Given the description of an element on the screen output the (x, y) to click on. 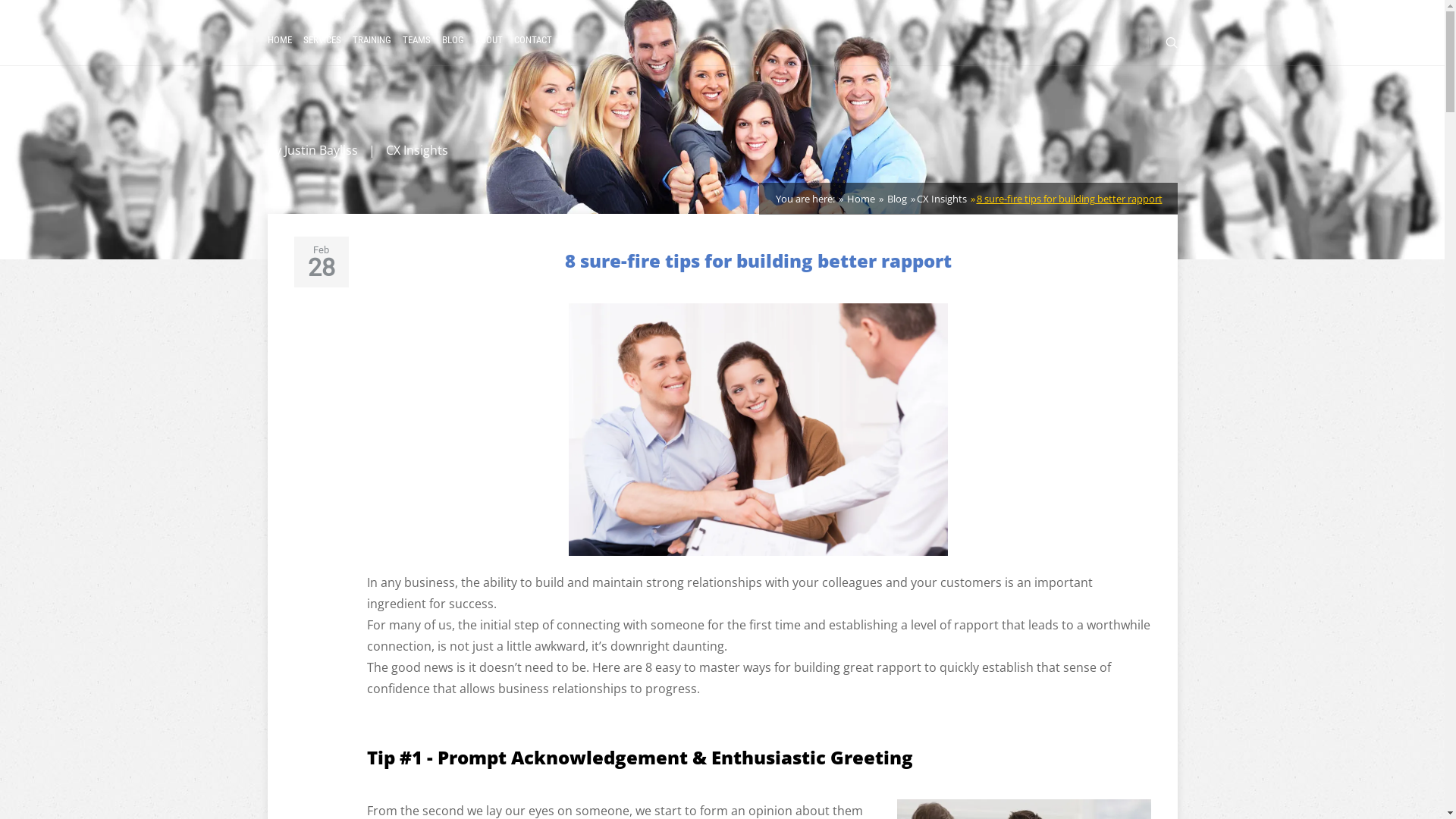
Blog Element type: text (895, 198)
SERVICES Element type: text (322, 39)
TRAINING Element type: text (370, 39)
CX Insights Element type: text (416, 149)
Justin Bayliss Element type: text (320, 149)
Home Element type: text (859, 198)
HOME Element type: text (278, 39)
Building Rapport Element type: hover (757, 429)
ABOUT Element type: text (488, 39)
CX Insights Element type: text (941, 198)
BLOG Element type: text (452, 39)
CONTACT Element type: text (533, 39)
8 sure-fire tips for building better rapport Element type: text (1069, 198)
TEAMS Element type: text (415, 39)
